Given the description of an element on the screen output the (x, y) to click on. 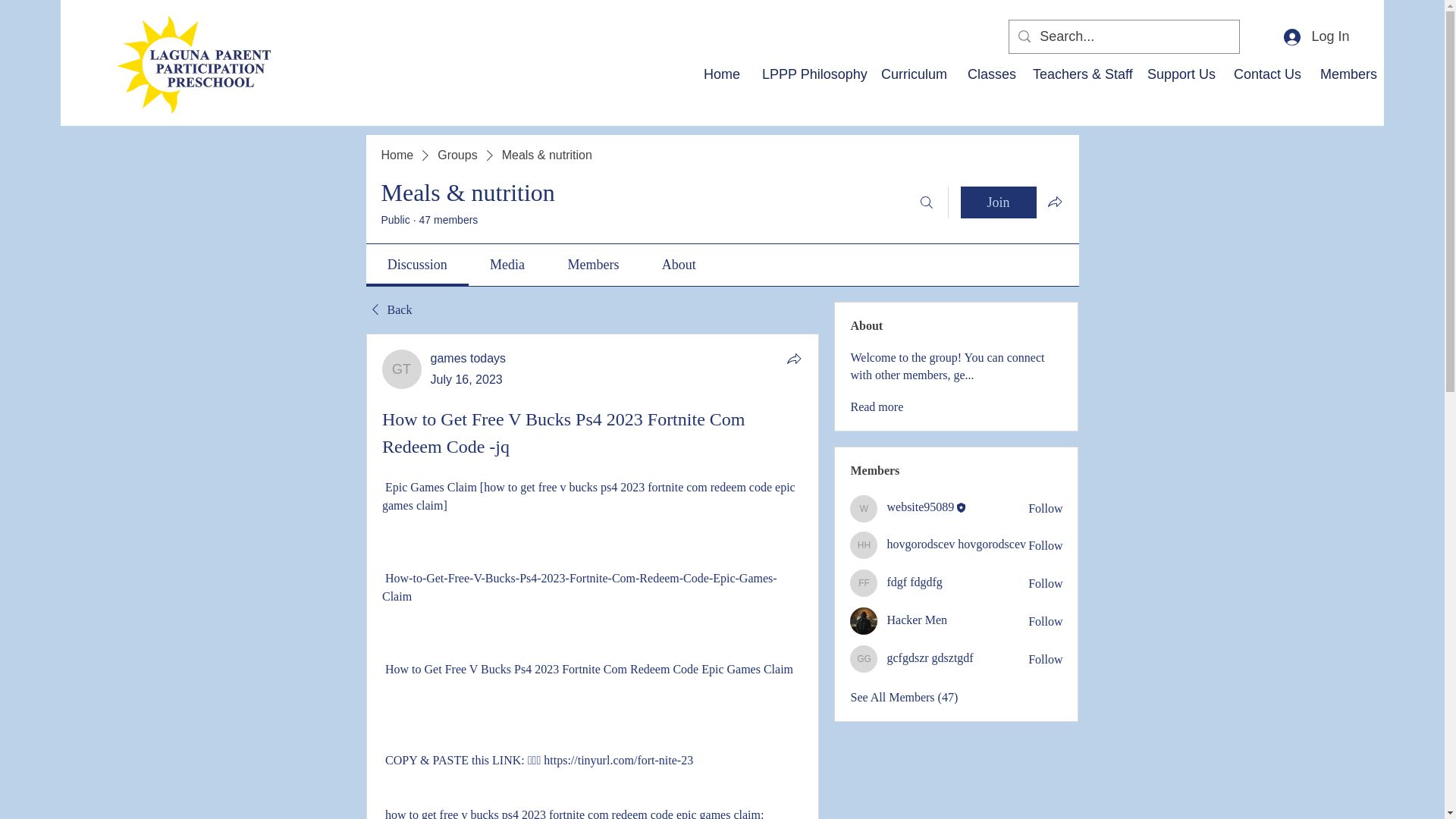
Support Us (1179, 74)
LPPP Philosophy (810, 74)
Hacker Men (916, 619)
website95089 (919, 506)
Join (997, 202)
fdgf fdgdfg (914, 581)
games todays (468, 358)
gcfgdszr gdsztgdf (863, 658)
Home (722, 74)
Home (396, 155)
